Given the description of an element on the screen output the (x, y) to click on. 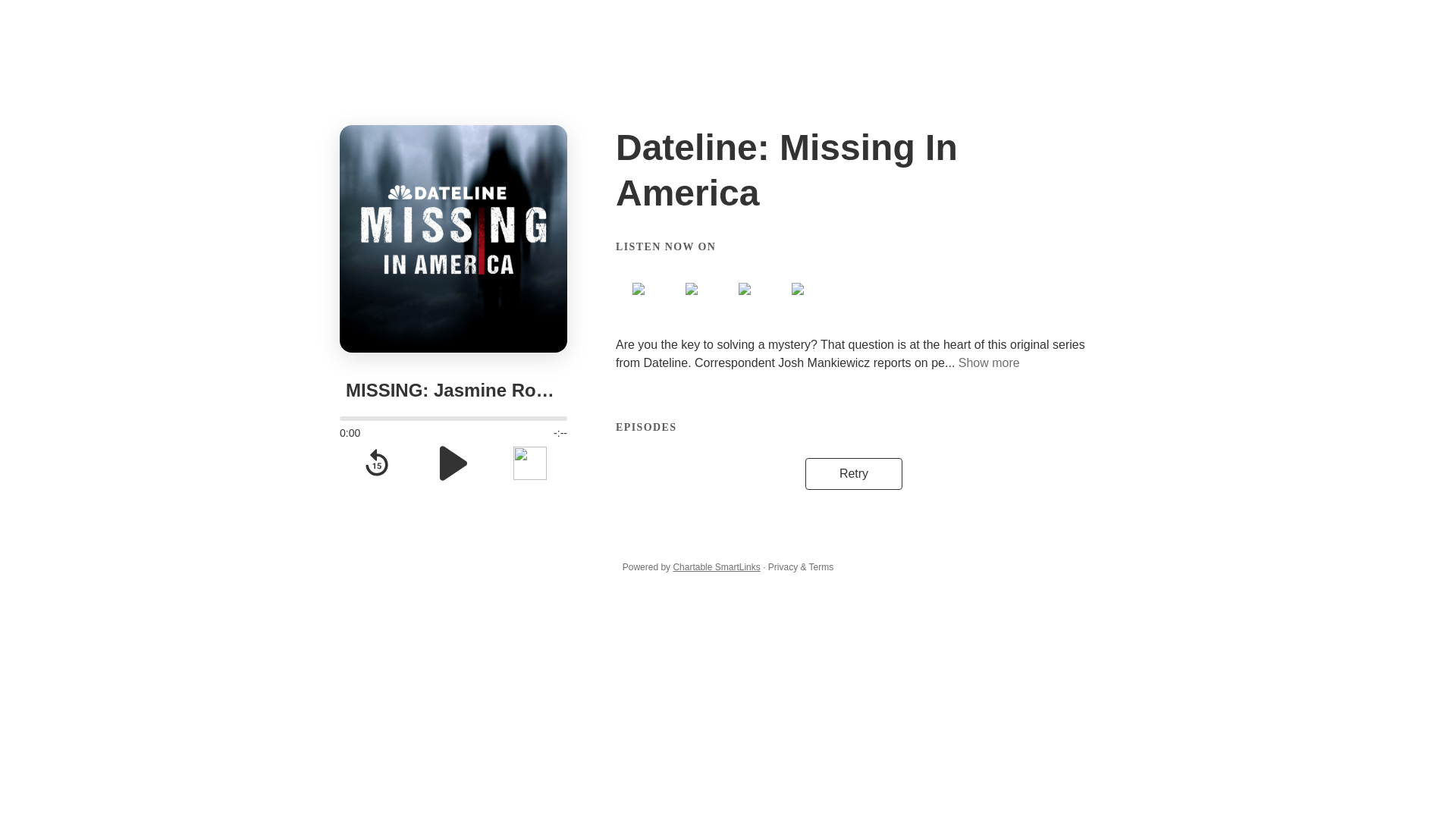
Chartable SmartLinks (716, 566)
